Given the description of an element on the screen output the (x, y) to click on. 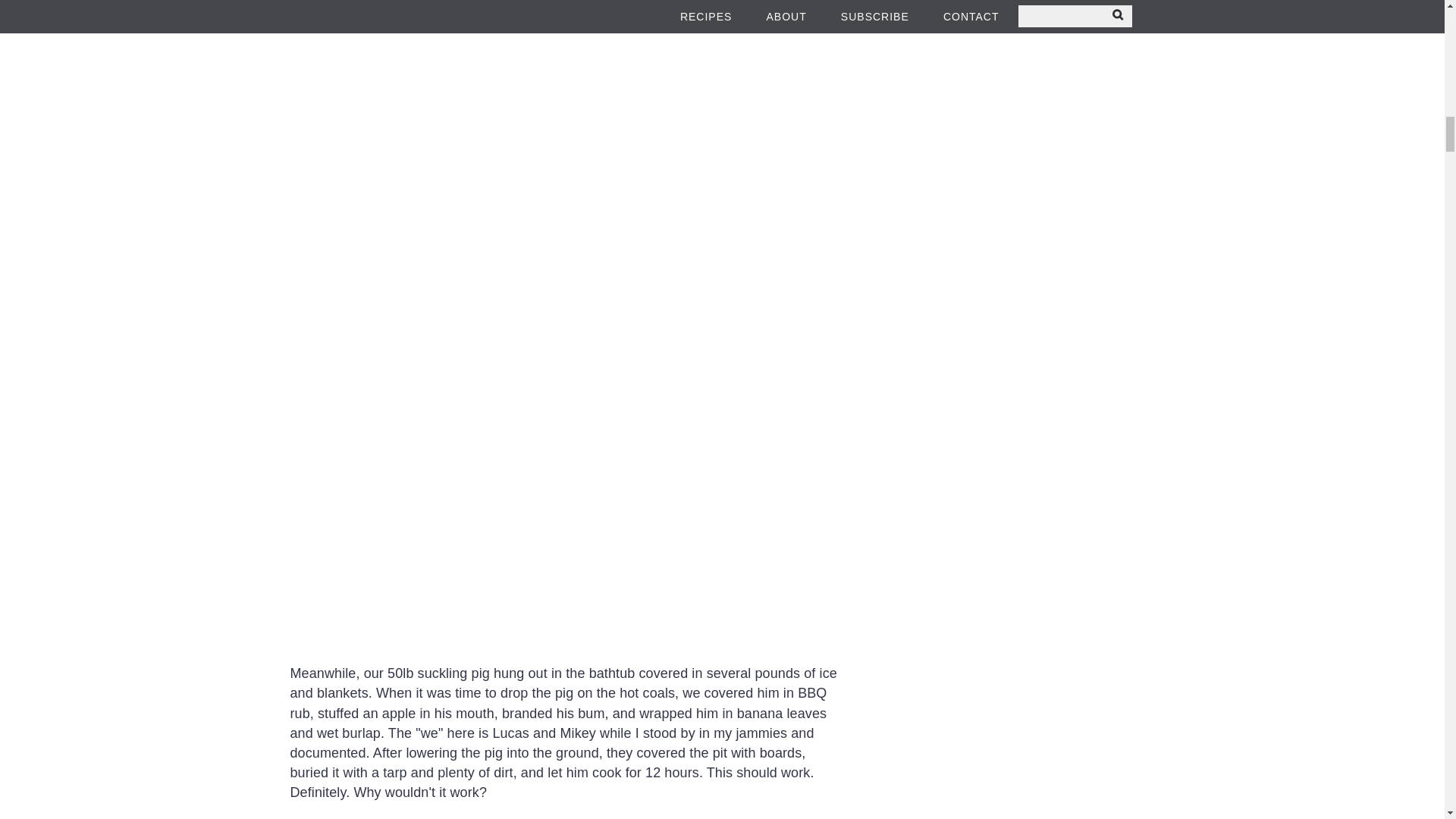
Backyard Pig Roast (565, 110)
